Given the description of an element on the screen output the (x, y) to click on. 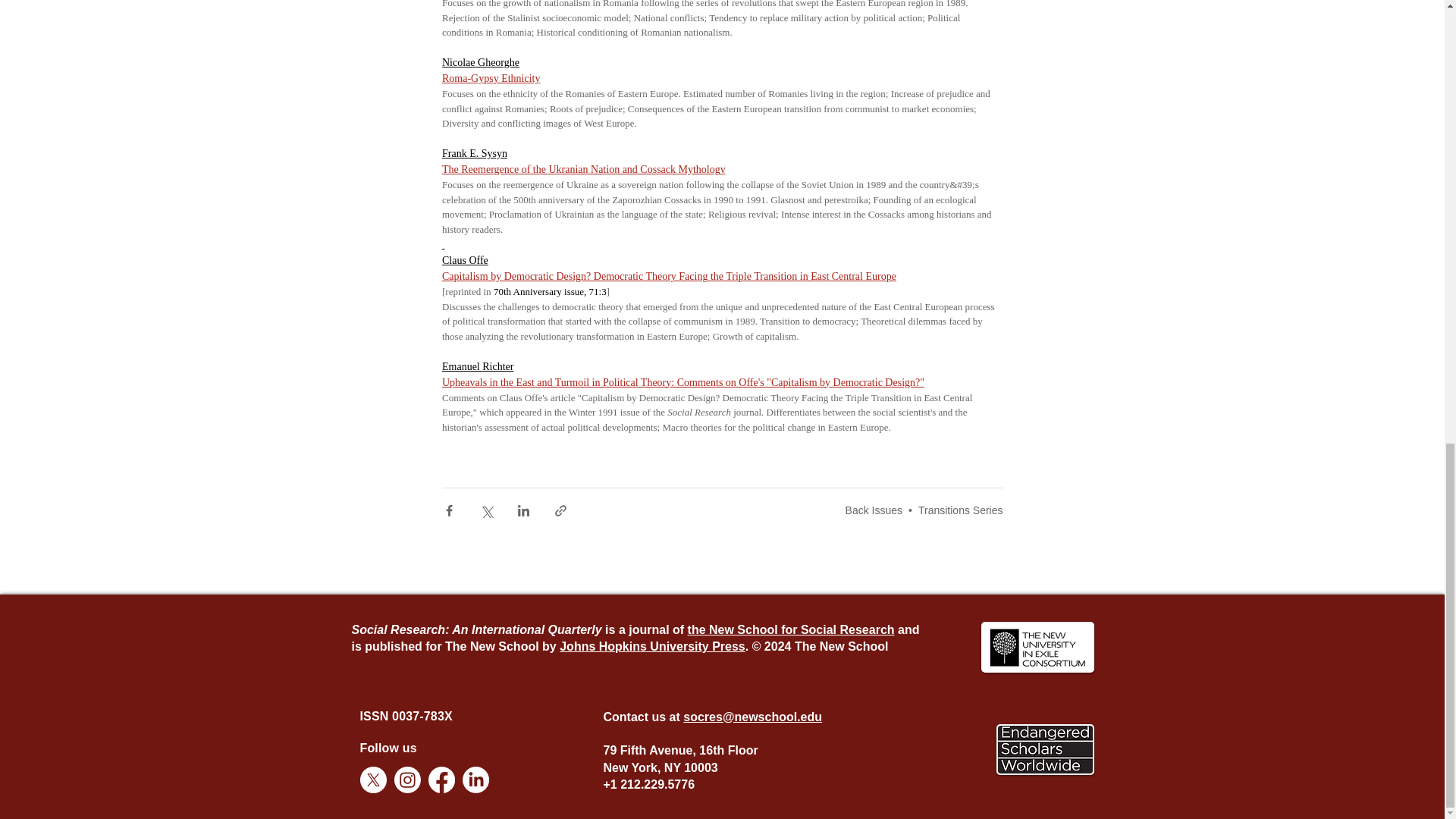
70th Anniversary issue, 71:3 (549, 291)
Roma-Gypsy Ethnicity (490, 78)
Claus Offe (464, 260)
Frank E. Sysyn (473, 153)
The Reemergence of the Ukranian Nation and Cossack Mythology (583, 169)
Nicolae Gheorghe (479, 61)
